Given the description of an element on the screen output the (x, y) to click on. 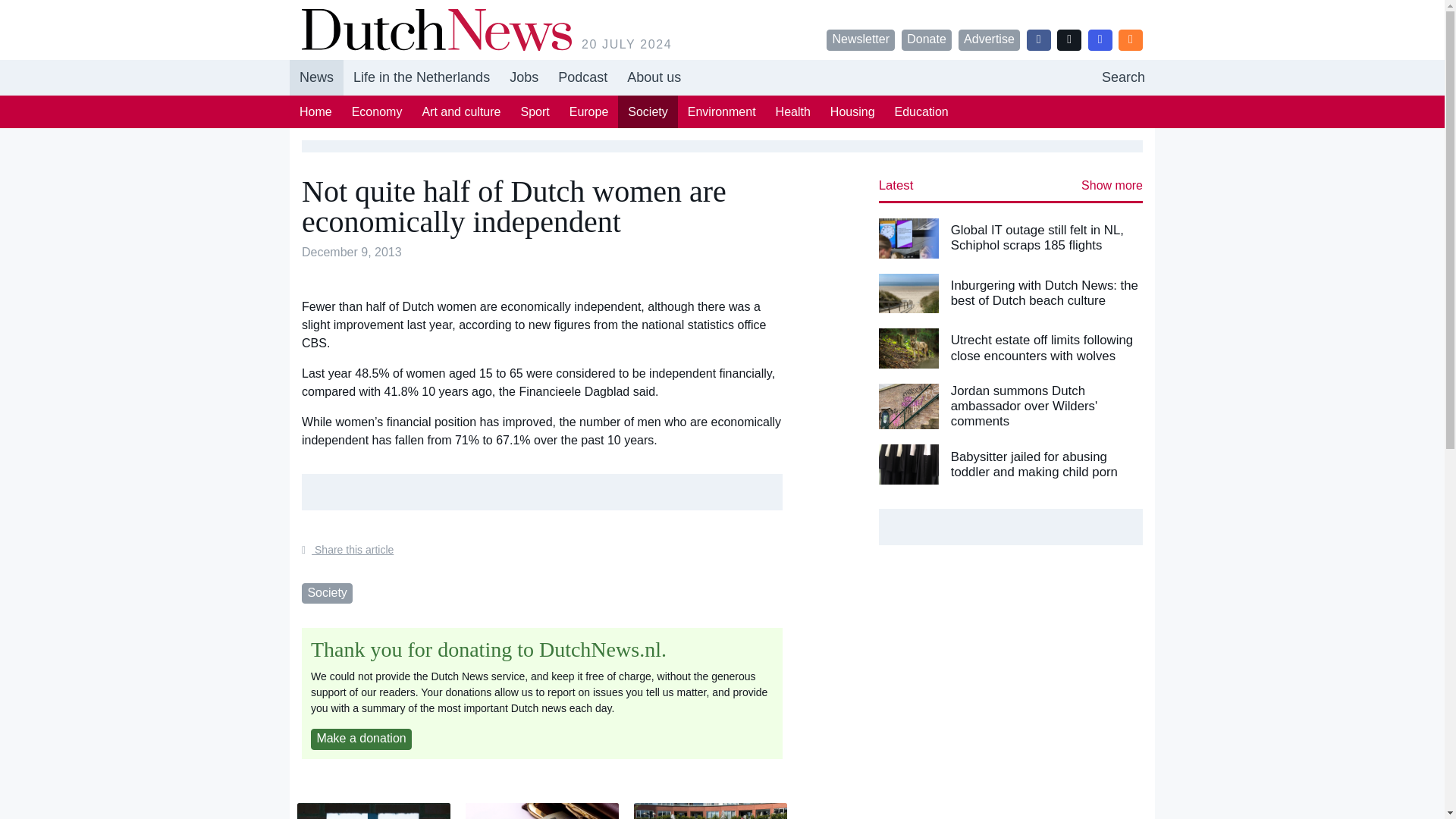
hidden-in-footer (1123, 77)
Economy (377, 111)
Advertise (989, 39)
Housing (853, 111)
Europe (588, 111)
Podcast (582, 77)
Newsletter (861, 39)
hidden-in-footer (523, 77)
Education (921, 111)
Jobs (523, 77)
About us (653, 77)
Donate (926, 39)
Search (1123, 77)
Art and culture (461, 111)
